Given the description of an element on the screen output the (x, y) to click on. 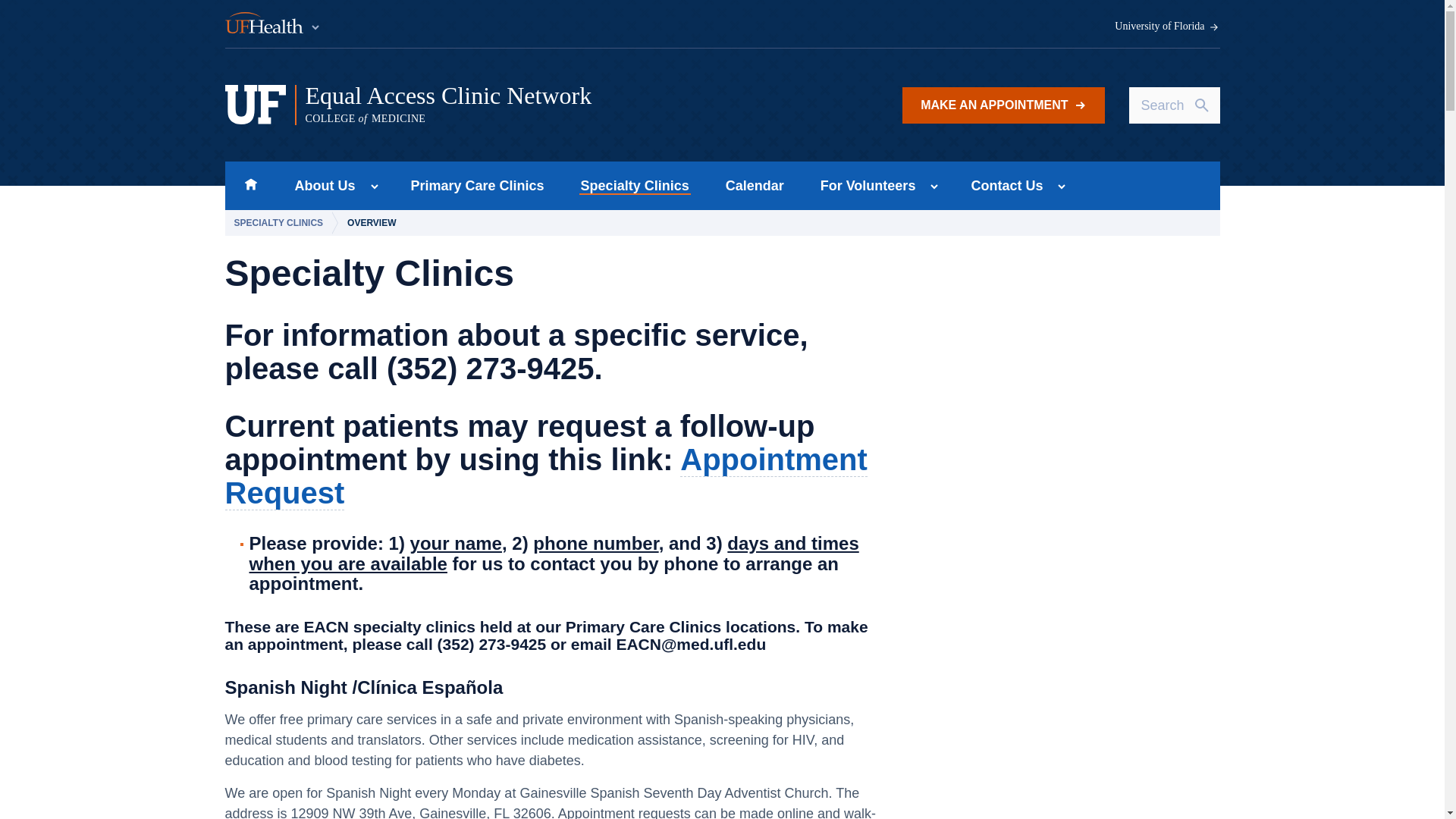
Calendar (754, 185)
Contact Us (1001, 185)
MAKE AN APPOINTMENT (515, 105)
UF Health (1002, 104)
About Us (272, 24)
Home (634, 185)
